Given the description of an element on the screen output the (x, y) to click on. 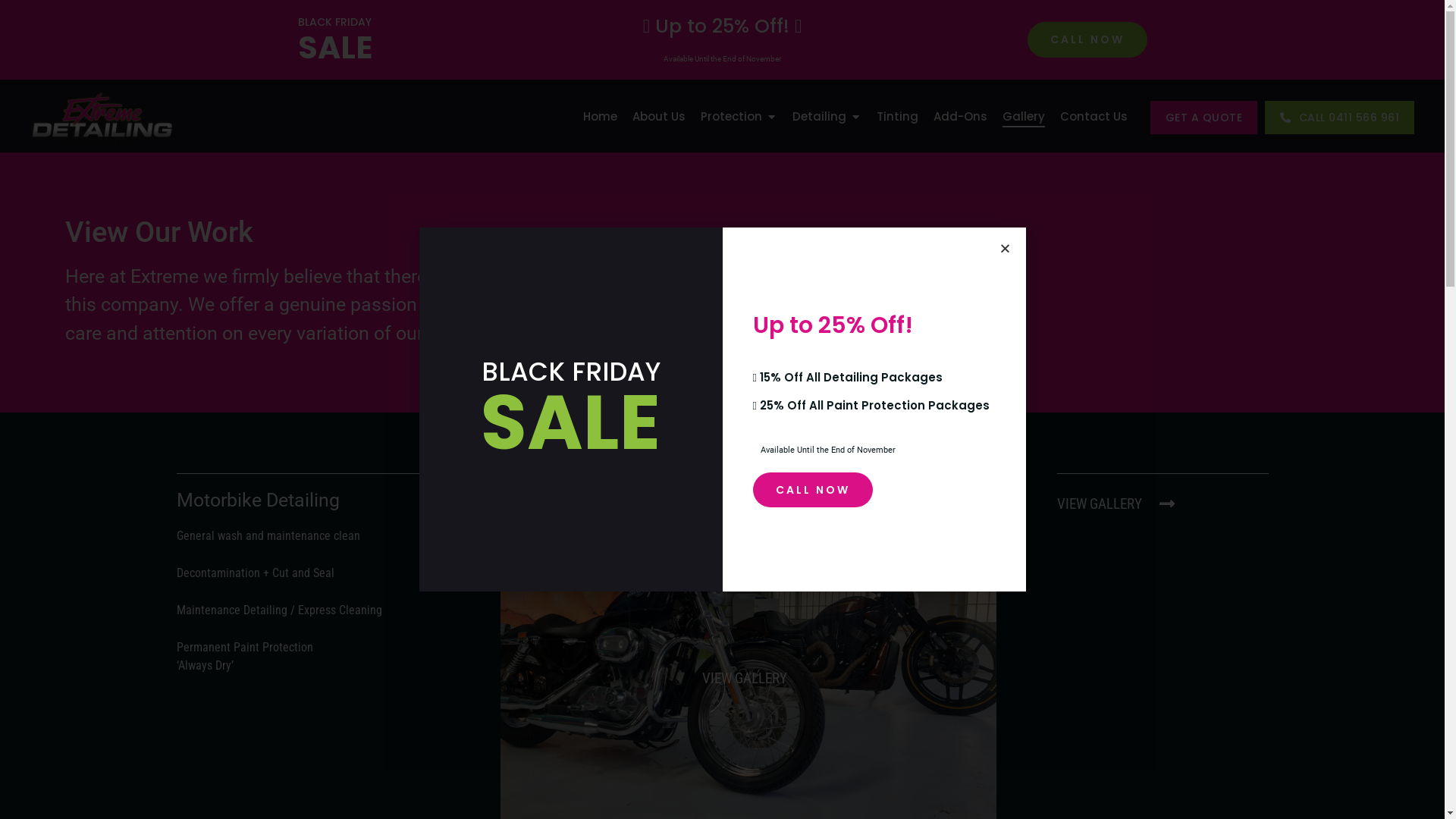
CALL NOW Element type: text (1086, 39)
Contact Us Element type: text (1093, 116)
GET A QUOTE Element type: text (1203, 117)
CALL 0411 566 961 Element type: text (1339, 117)
Gallery Element type: text (1023, 116)
CALL NOW Element type: text (812, 490)
VIEW GALLERY Element type: text (748, 677)
Tinting Element type: text (897, 116)
Add-Ons Element type: text (959, 116)
Home Element type: text (599, 116)
ExtremeDetailing logo Element type: hover (101, 117)
VIEW GALLERY Element type: text (1119, 504)
About Us Element type: text (658, 116)
